Given the description of an element on the screen output the (x, y) to click on. 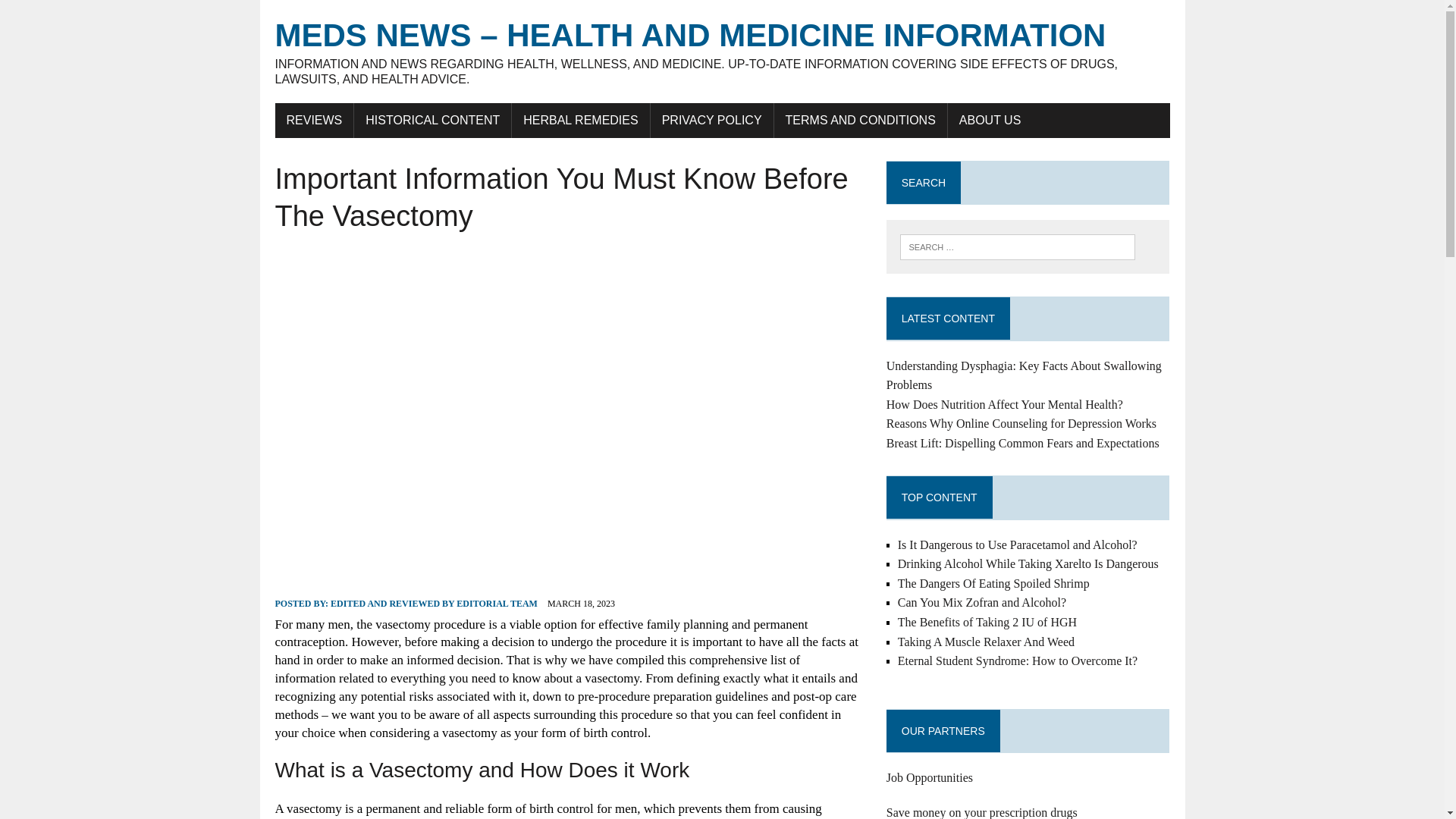
Search (75, 14)
Job Opportunities (929, 777)
HISTORICAL CONTENT (432, 120)
HERBAL REMEDIES (580, 120)
Drinking Alcohol While Taking Xarelto Is Dangerous (1028, 563)
ABOUT US (989, 120)
Eternal Student Syndrome: How to Overcome It? (1017, 660)
PRIVACY POLICY (711, 120)
REVIEWS (314, 120)
Reasons Why Online Counseling for Depression Works (1021, 422)
TERMS AND CONDITIONS (860, 120)
The Benefits of Taking 2 IU of HGH (987, 621)
How Does Nutrition Affect Your Mental Health? (1004, 404)
Understanding Dysphagia: Key Facts About Swallowing Problems (1023, 375)
Can You Mix Zofran and Alcohol? (981, 602)
